Given the description of an element on the screen output the (x, y) to click on. 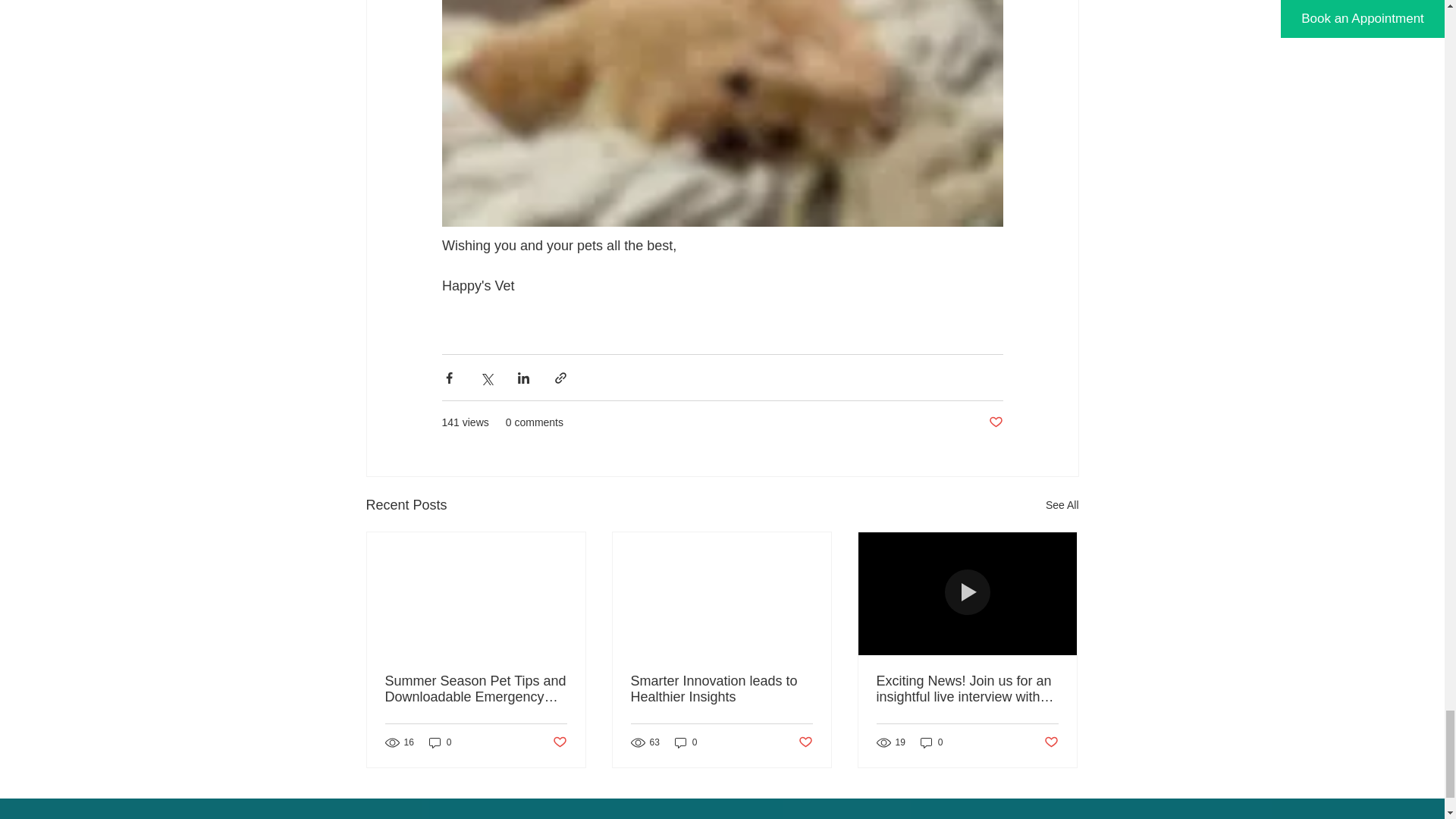
0 (685, 742)
See All (1061, 505)
Post not marked as liked (558, 742)
Post not marked as liked (995, 422)
0 (931, 742)
Smarter Innovation leads to Healthier Insights (721, 689)
0 (440, 742)
Post not marked as liked (804, 742)
Post not marked as liked (1050, 742)
